Given the description of an element on the screen output the (x, y) to click on. 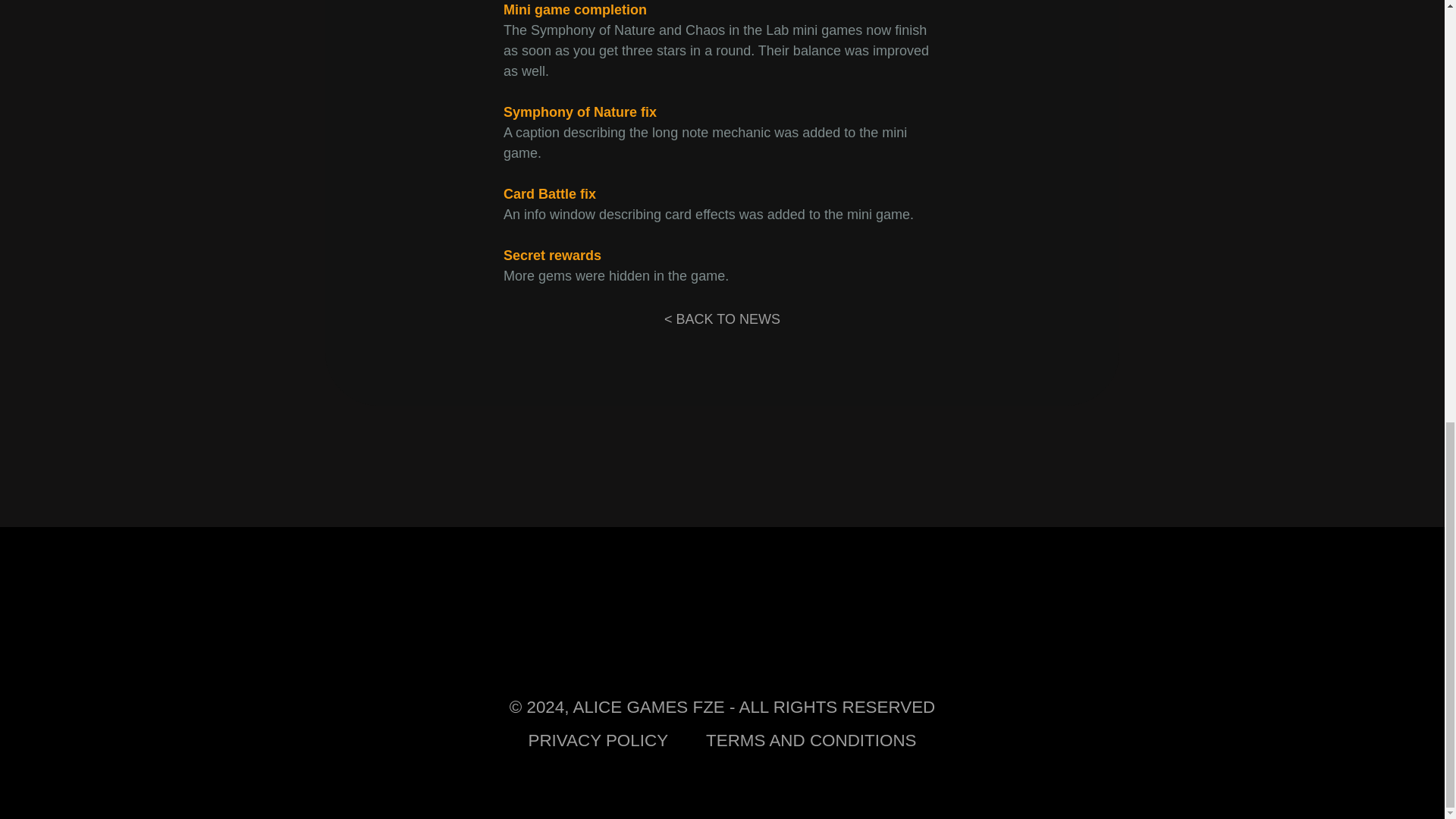
PRIVACY POLICY (597, 740)
TERMS AND CONDITIONS (810, 740)
